Given the description of an element on the screen output the (x, y) to click on. 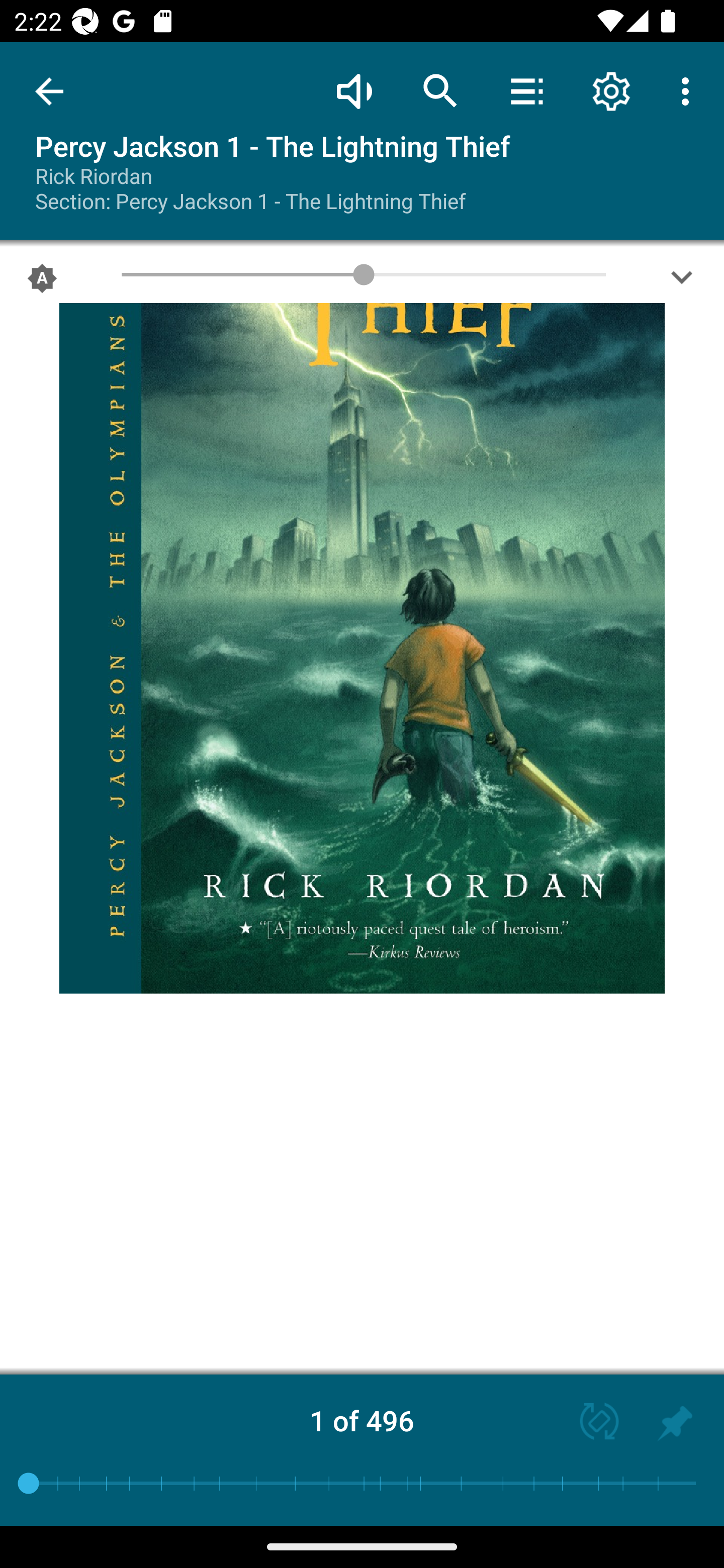
Exit reading (49, 91)
Read aloud (354, 90)
Text search (440, 90)
Contents / Bookmarks / Quotes (526, 90)
Reading settings (611, 90)
More options (688, 90)
Selected screen brightness (42, 281)
Screen brightness settings (681, 281)
1 of 496 (361, 1420)
Screen orientation (590, 1423)
Add to history (674, 1423)
